Given the description of an element on the screen output the (x, y) to click on. 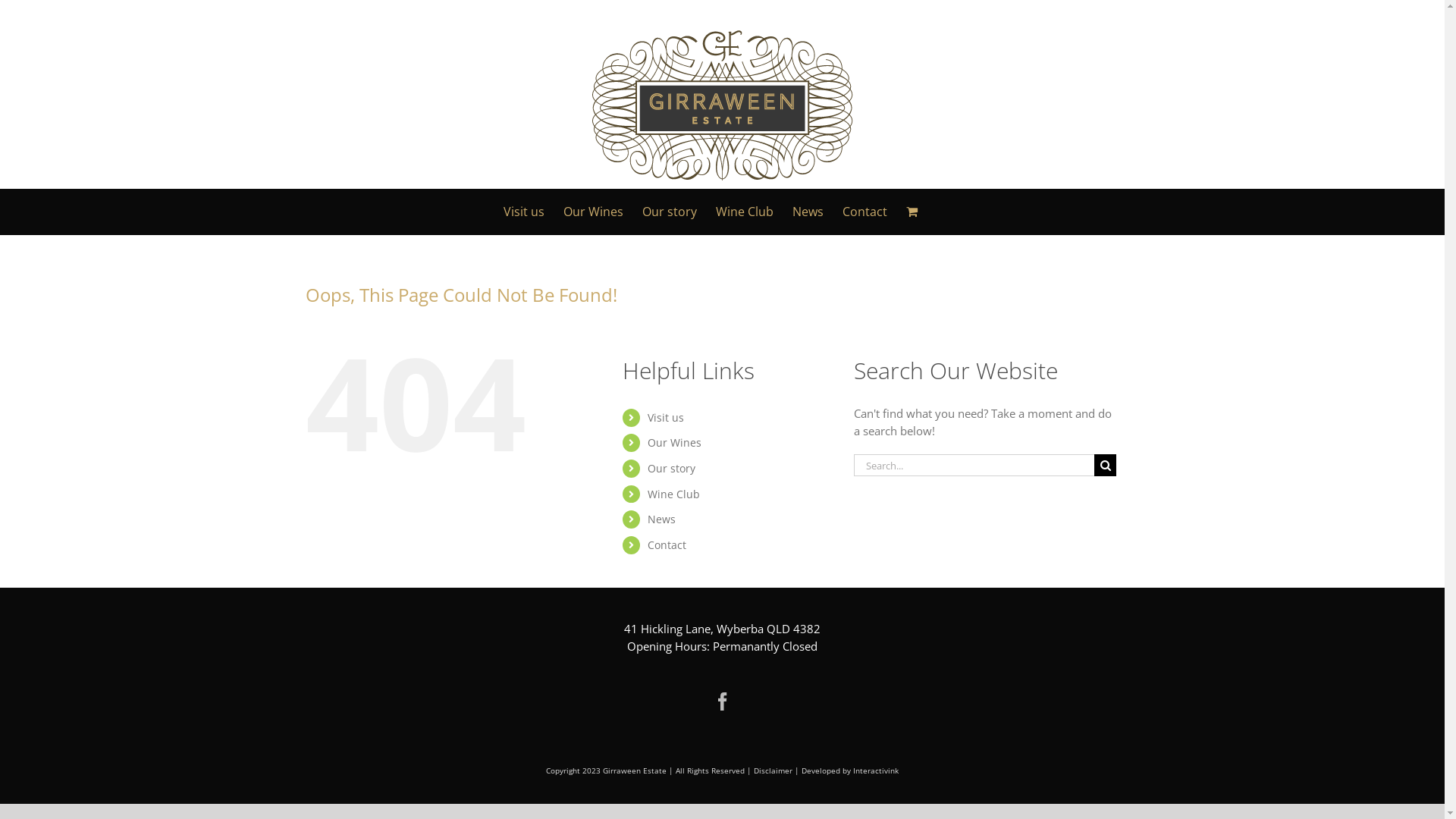
Interactivink Element type: text (875, 770)
News Element type: text (807, 211)
Our story Element type: text (671, 468)
Wine Club Element type: text (673, 493)
Visit us Element type: text (523, 211)
Wine Club Element type: text (744, 211)
News Element type: text (661, 518)
Visit us Element type: text (665, 417)
Disclaimer Element type: text (772, 770)
Facebook Element type: hover (721, 701)
Our Wines Element type: text (593, 211)
Contact Element type: text (864, 211)
Our Wines Element type: text (674, 442)
Our story Element type: text (669, 211)
Contact Element type: text (666, 544)
